Given the description of an element on the screen output the (x, y) to click on. 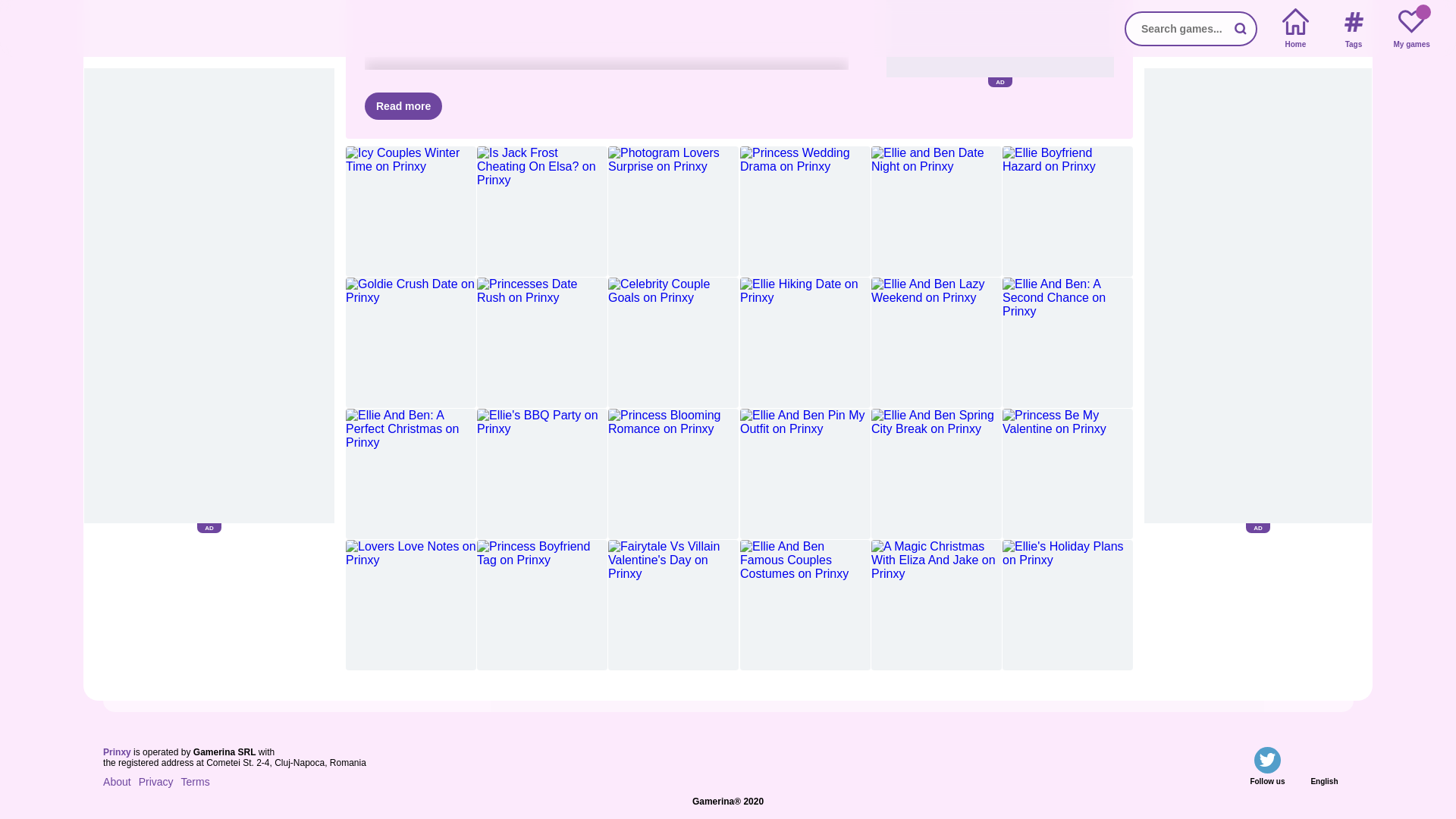
Read more (403, 105)
